Given the description of an element on the screen output the (x, y) to click on. 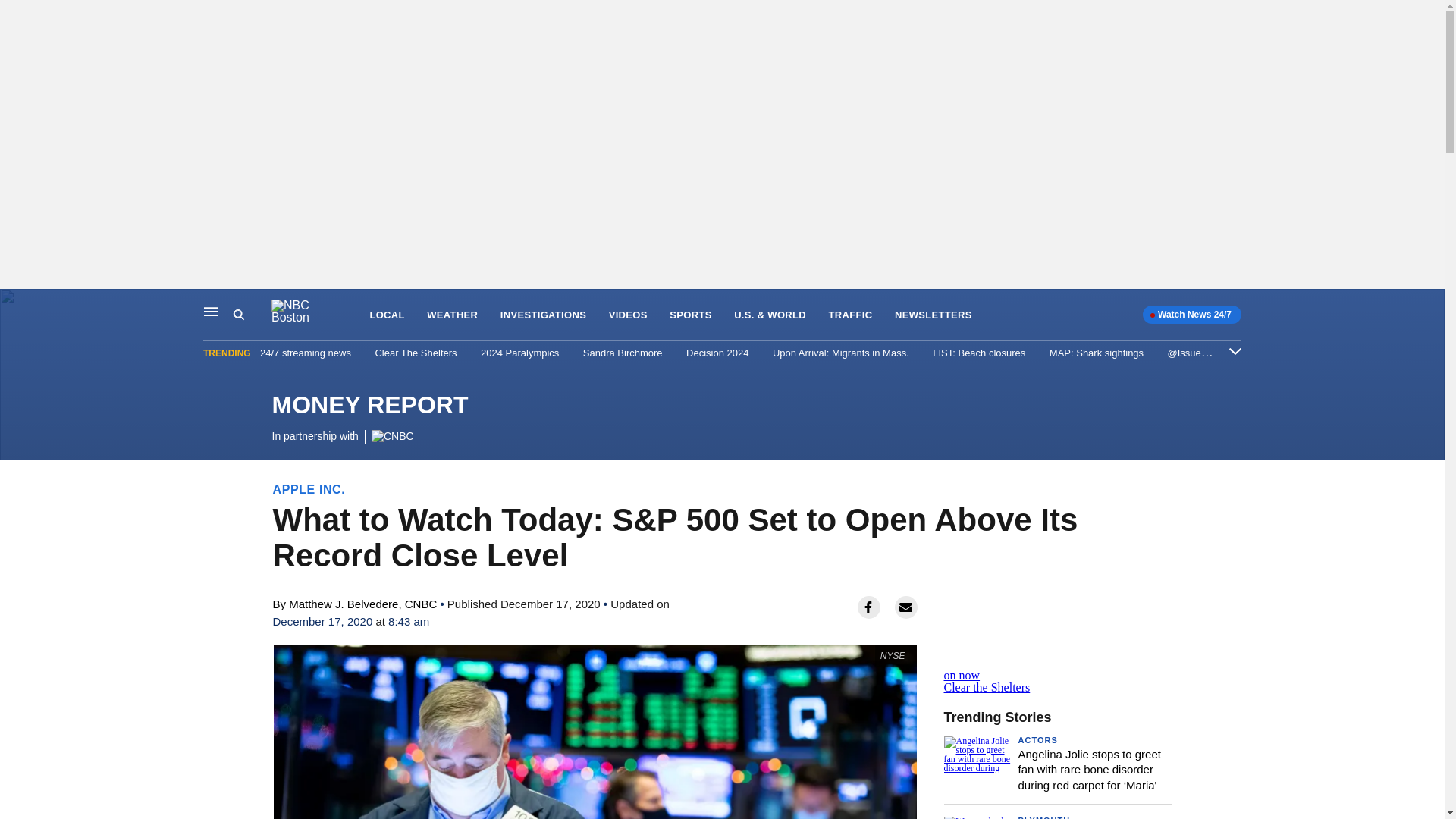
Upon Arrival: Migrants in Mass. (840, 352)
SPORTS (690, 315)
TRAFFIC (850, 315)
MAP: Shark sightings (1095, 352)
Skip to content (16, 304)
WEATHER (451, 315)
Search (238, 314)
INVESTIGATIONS (543, 315)
NEWSLETTERS (933, 315)
2024 Paralympics (519, 352)
